Given the description of an element on the screen output the (x, y) to click on. 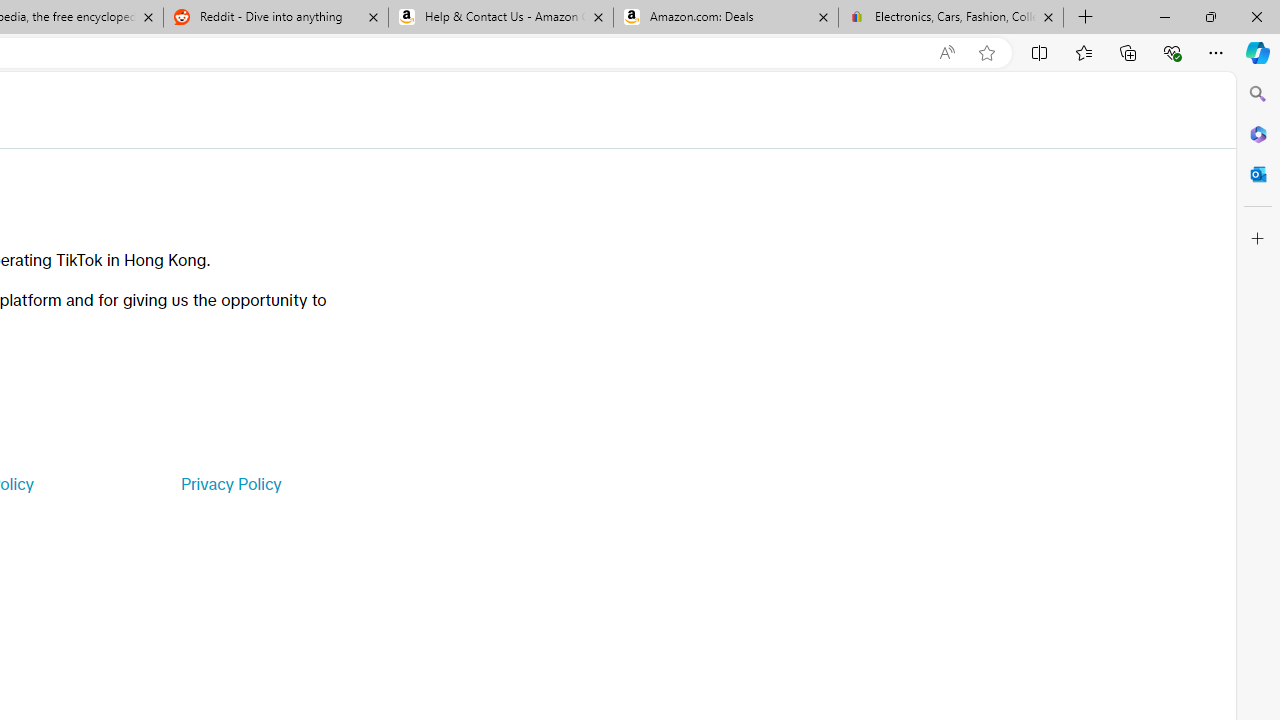
Copilot (Ctrl+Shift+.) (1258, 52)
Customize (1258, 239)
Close tab (1048, 16)
Add this page to favorites (Ctrl+D) (986, 53)
New Tab (1085, 17)
Microsoft 365 (1258, 133)
Browser essentials (1171, 52)
Amazon.com: Deals (726, 17)
Help & Contact Us - Amazon Customer Service (501, 17)
Collections (1128, 52)
Split screen (1039, 52)
Search (1258, 94)
Read aloud this page (Ctrl+Shift+U) (946, 53)
Minimize (1164, 16)
Electronics, Cars, Fashion, Collectibles & More | eBay (950, 17)
